Given the description of an element on the screen output the (x, y) to click on. 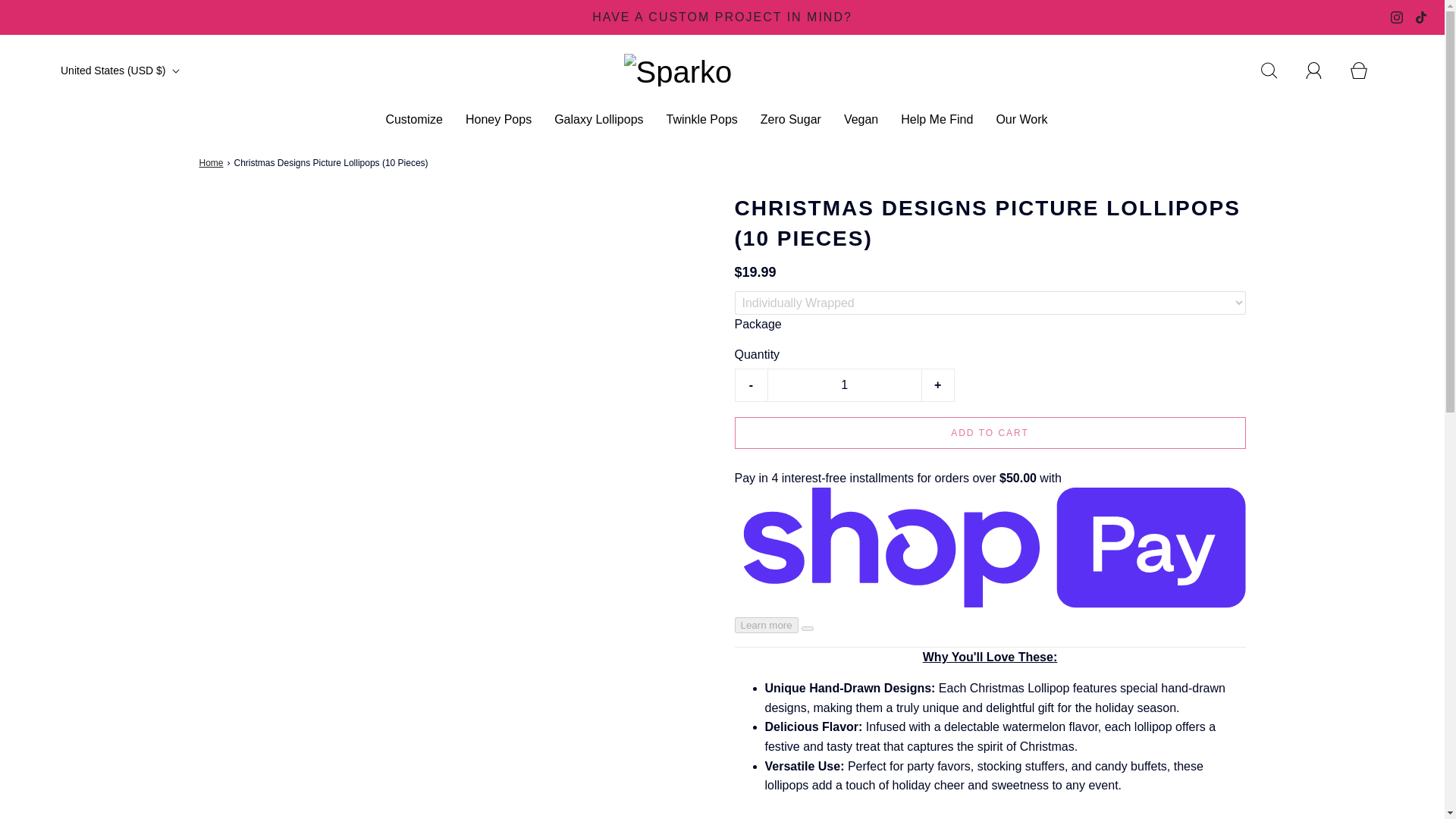
Back to the frontpage (212, 163)
Twinkle Pops (702, 119)
Log in (1322, 70)
Galaxy Lollipops (598, 119)
INSTAGRAM ICON (1396, 17)
TIKTOK ICON (1420, 17)
Customize (413, 119)
Cart (1367, 70)
1 (843, 385)
TIKTOK ICON (1420, 17)
